Given the description of an element on the screen output the (x, y) to click on. 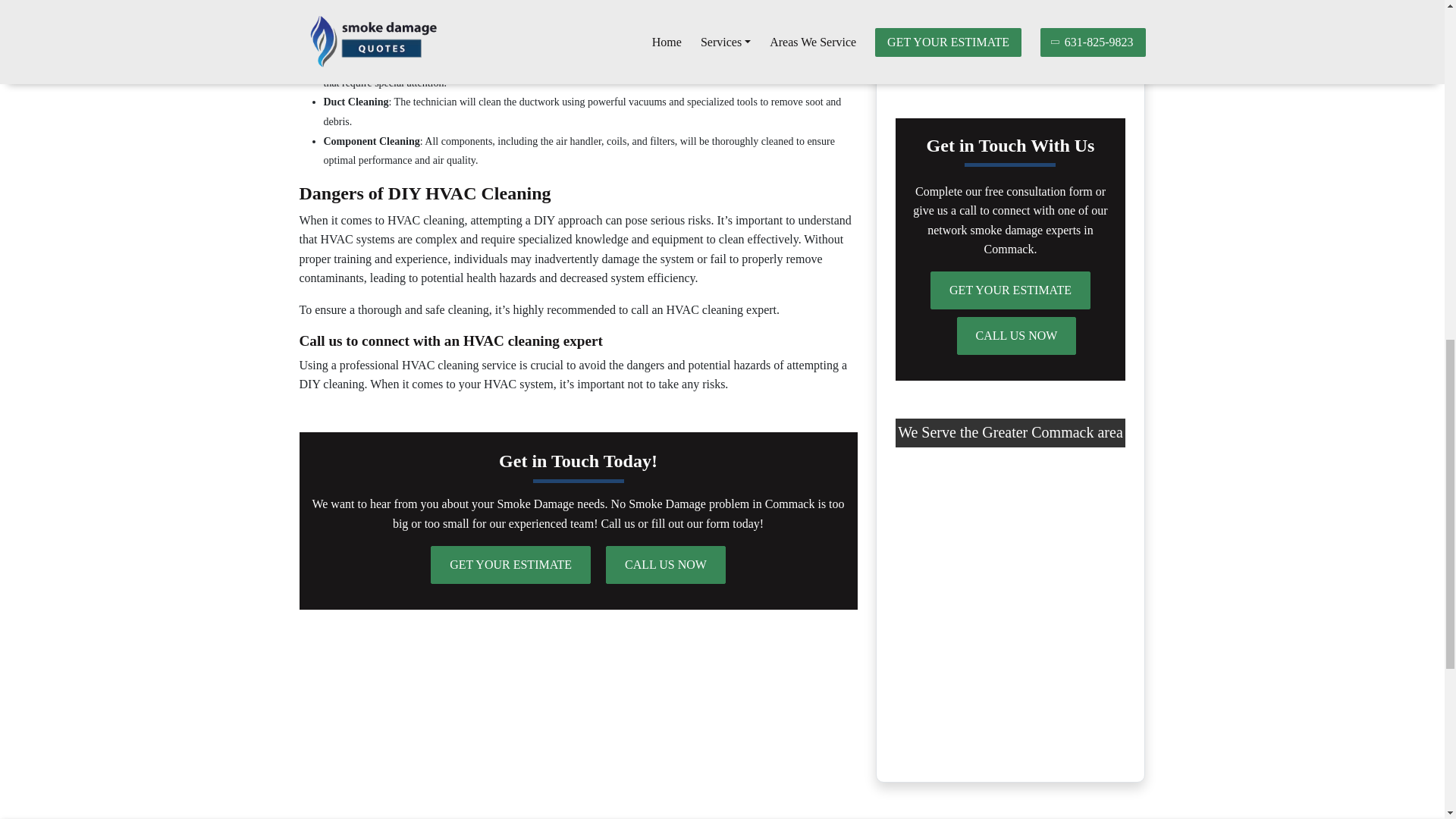
CALL US NOW (1016, 335)
CALL US NOW (665, 564)
GET YOUR ESTIMATE (510, 564)
- Effective Steps to Repair Smoke Damage in Commack Homes (1004, 6)
- Why Does Smoke Odor Linger in Homes in Commack? (1008, 47)
GET YOUR ESTIMATE (1010, 290)
